Given the description of an element on the screen output the (x, y) to click on. 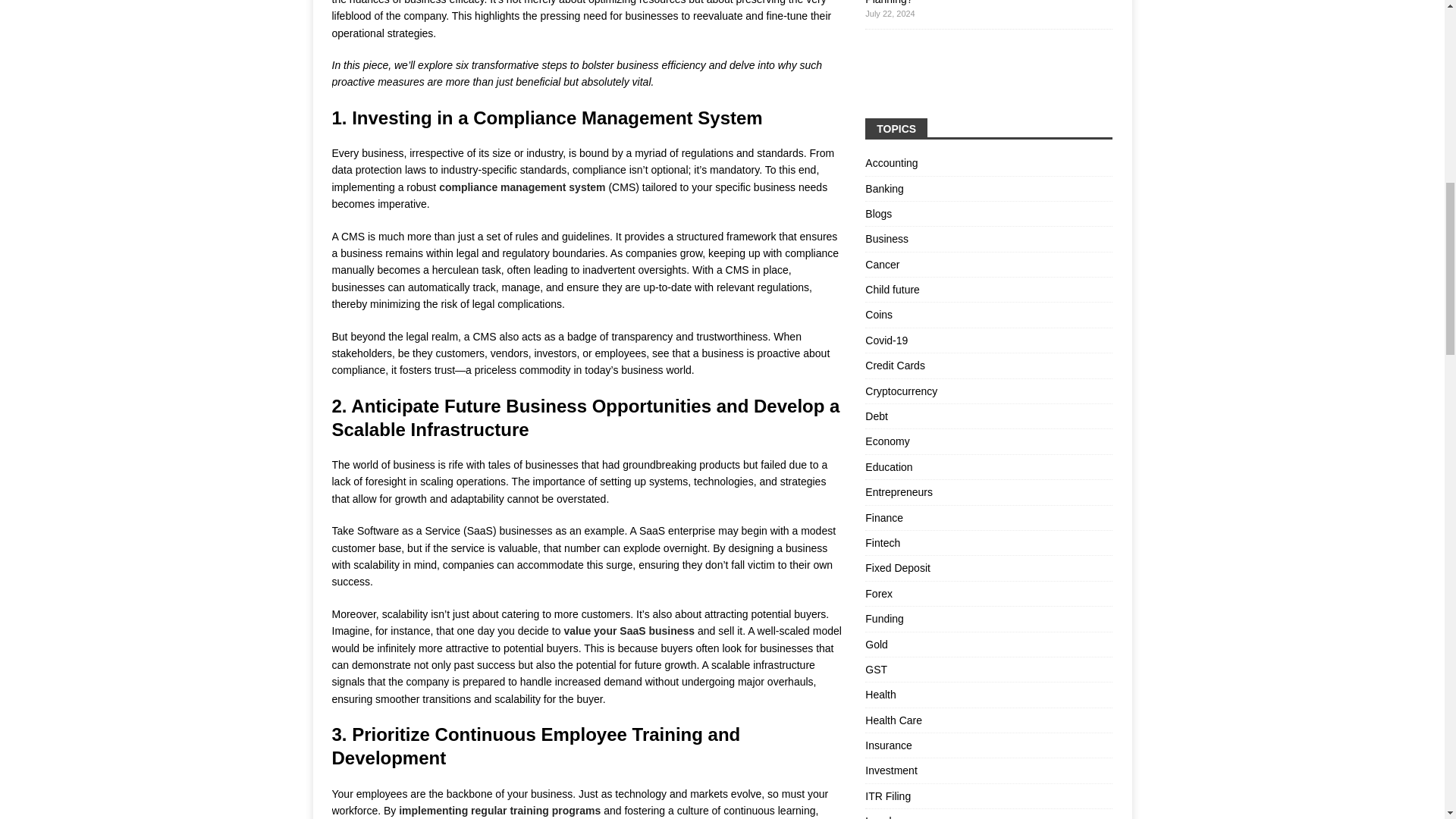
value your SaaS business (628, 630)
implementing regular training programs (498, 810)
compliance management system (522, 186)
